Given the description of an element on the screen output the (x, y) to click on. 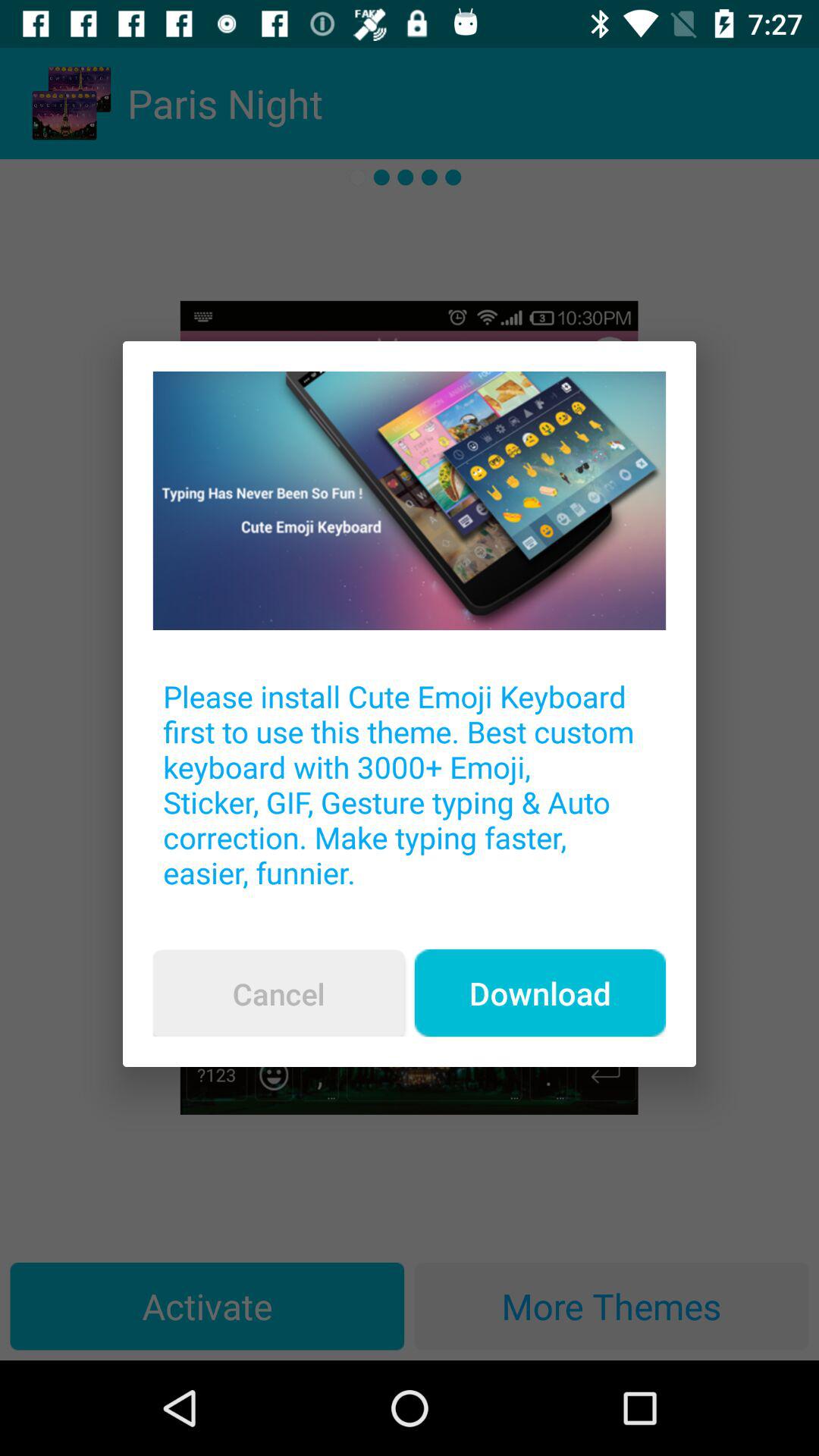
scroll to the cancel item (278, 993)
